Given the description of an element on the screen output the (x, y) to click on. 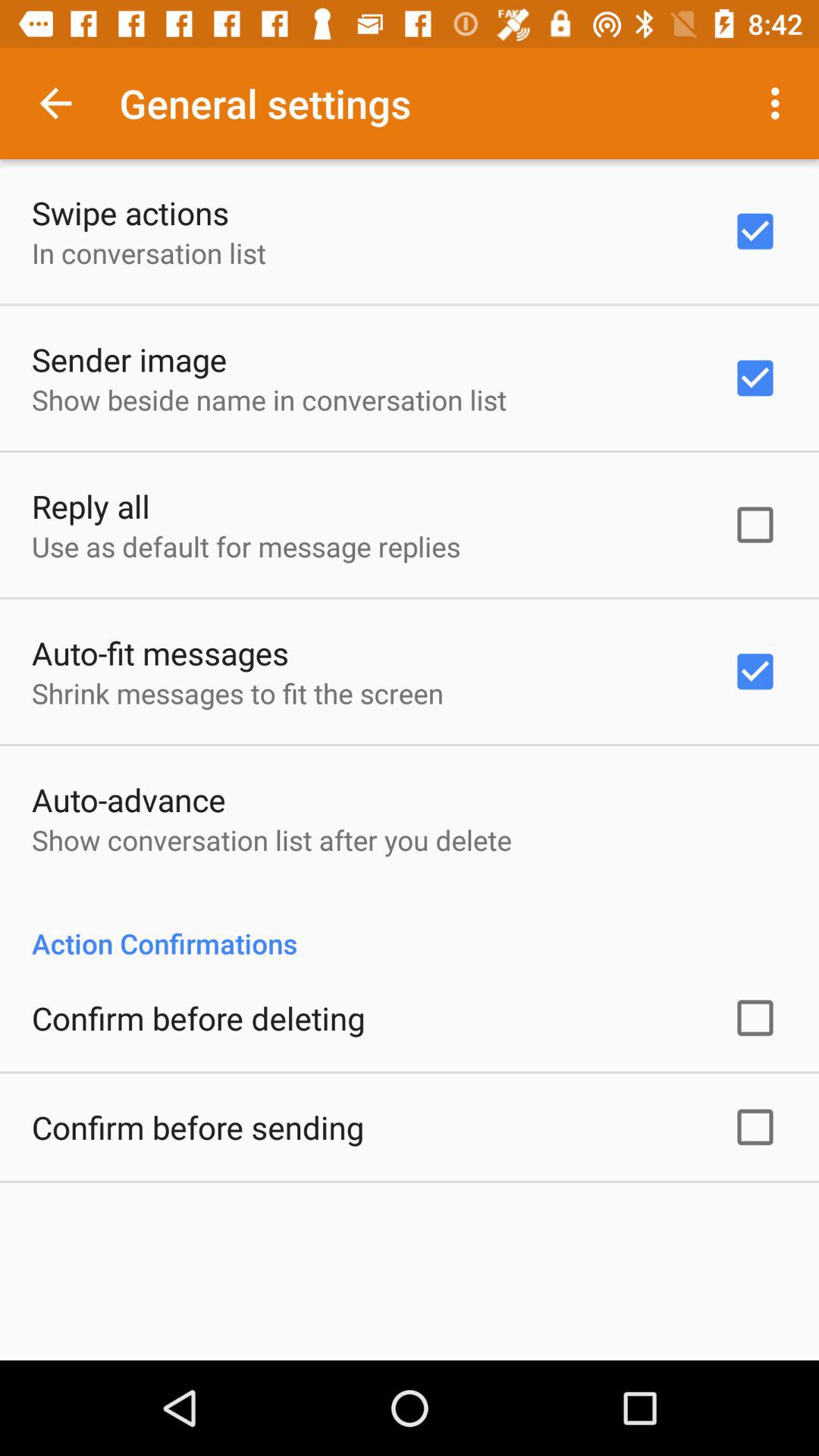
tap the icon to the right of the general settings item (779, 103)
